Given the description of an element on the screen output the (x, y) to click on. 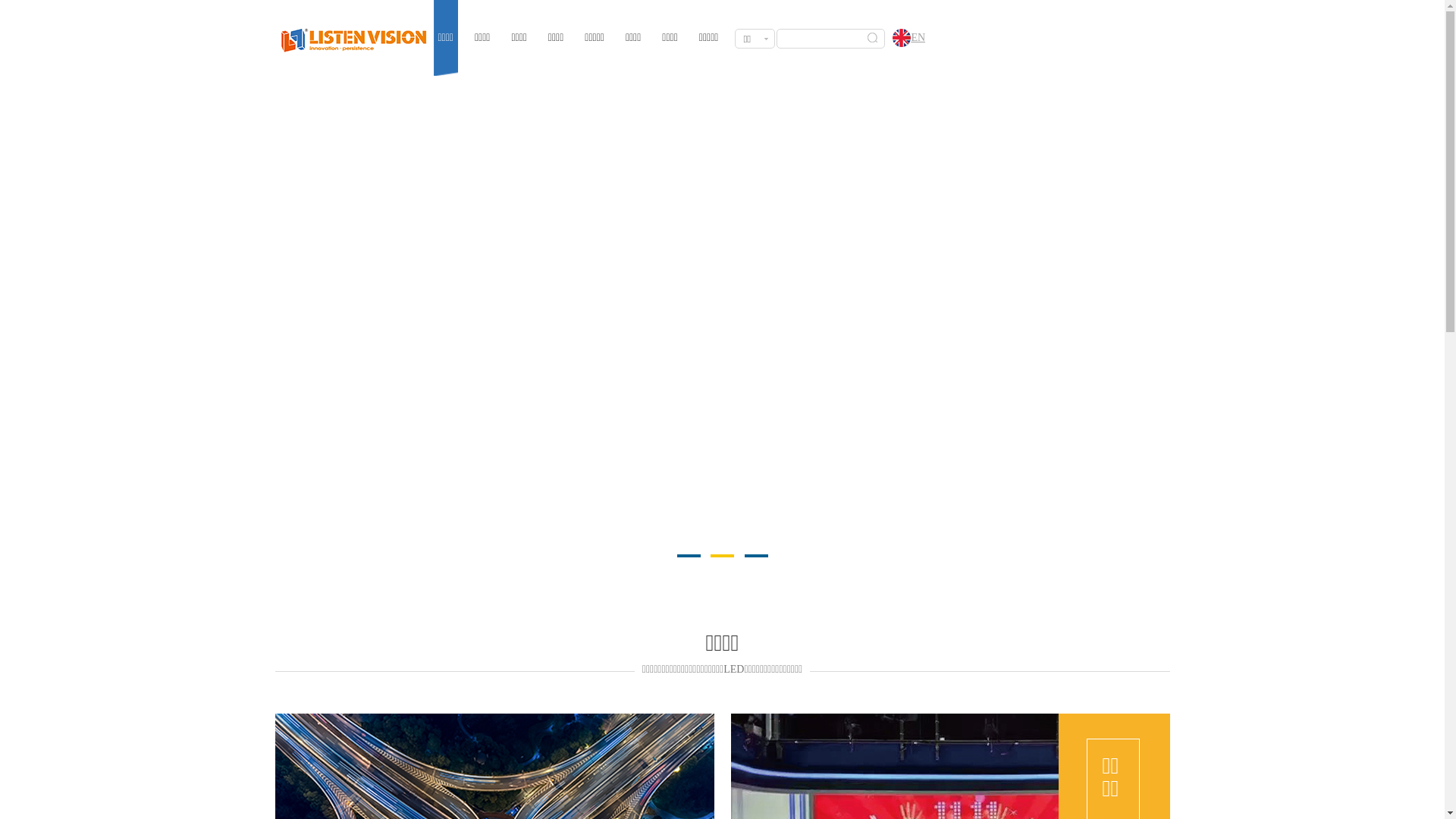
0 Element type: text (720, 249)
EN Element type: text (904, 39)
  Element type: text (1430, 210)
0 Element type: text (721, 327)
